Given the description of an element on the screen output the (x, y) to click on. 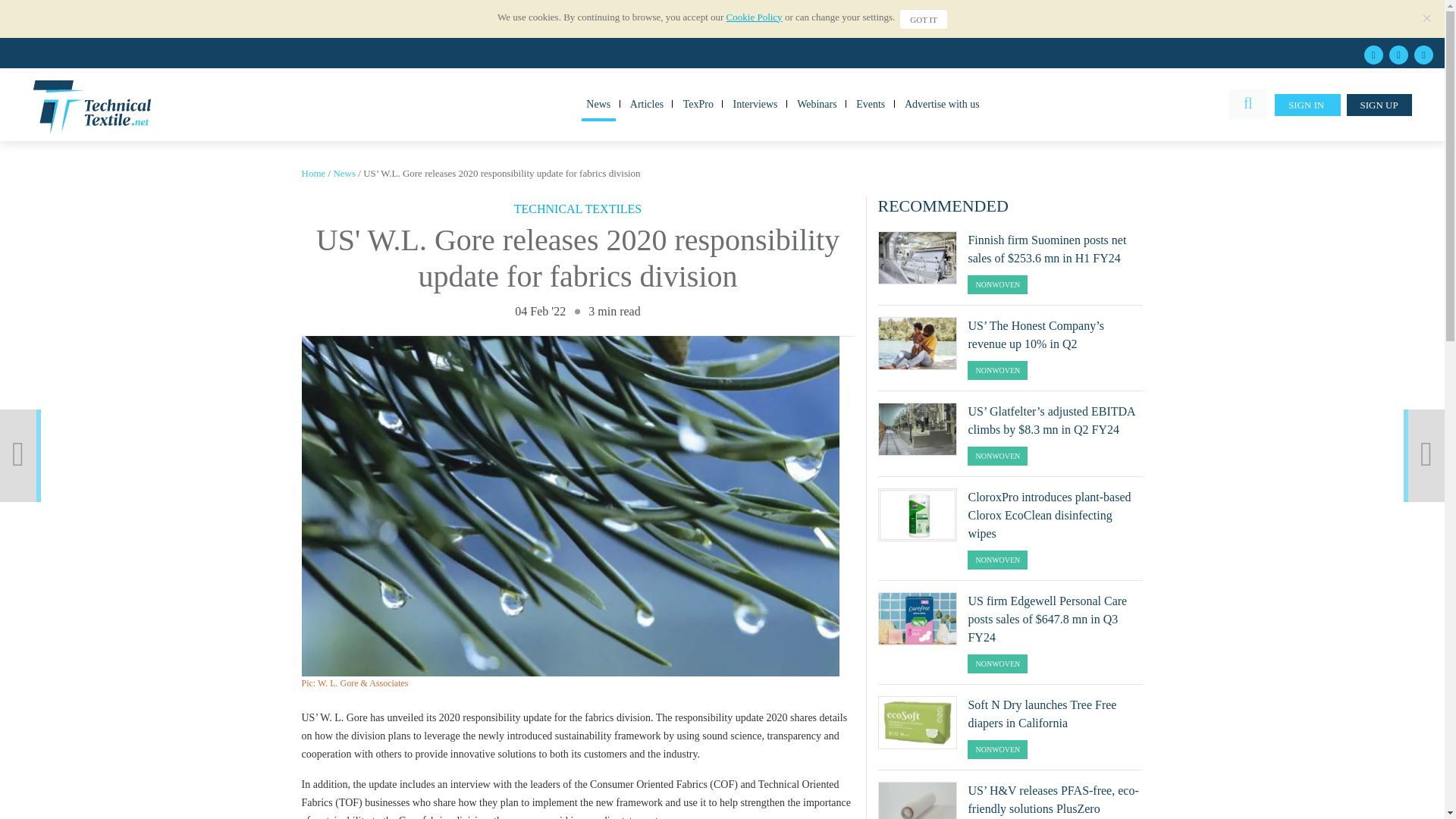
Advertise with us (941, 103)
Interviews (755, 103)
TECHNICAL TEXTILES (577, 207)
NONWOVEN (997, 559)
NONWOVEN (997, 284)
Soft N Dry launches Tree Free diapers in California (917, 722)
NONWOVEN (997, 370)
TexPro (697, 103)
Home (313, 173)
